Given the description of an element on the screen output the (x, y) to click on. 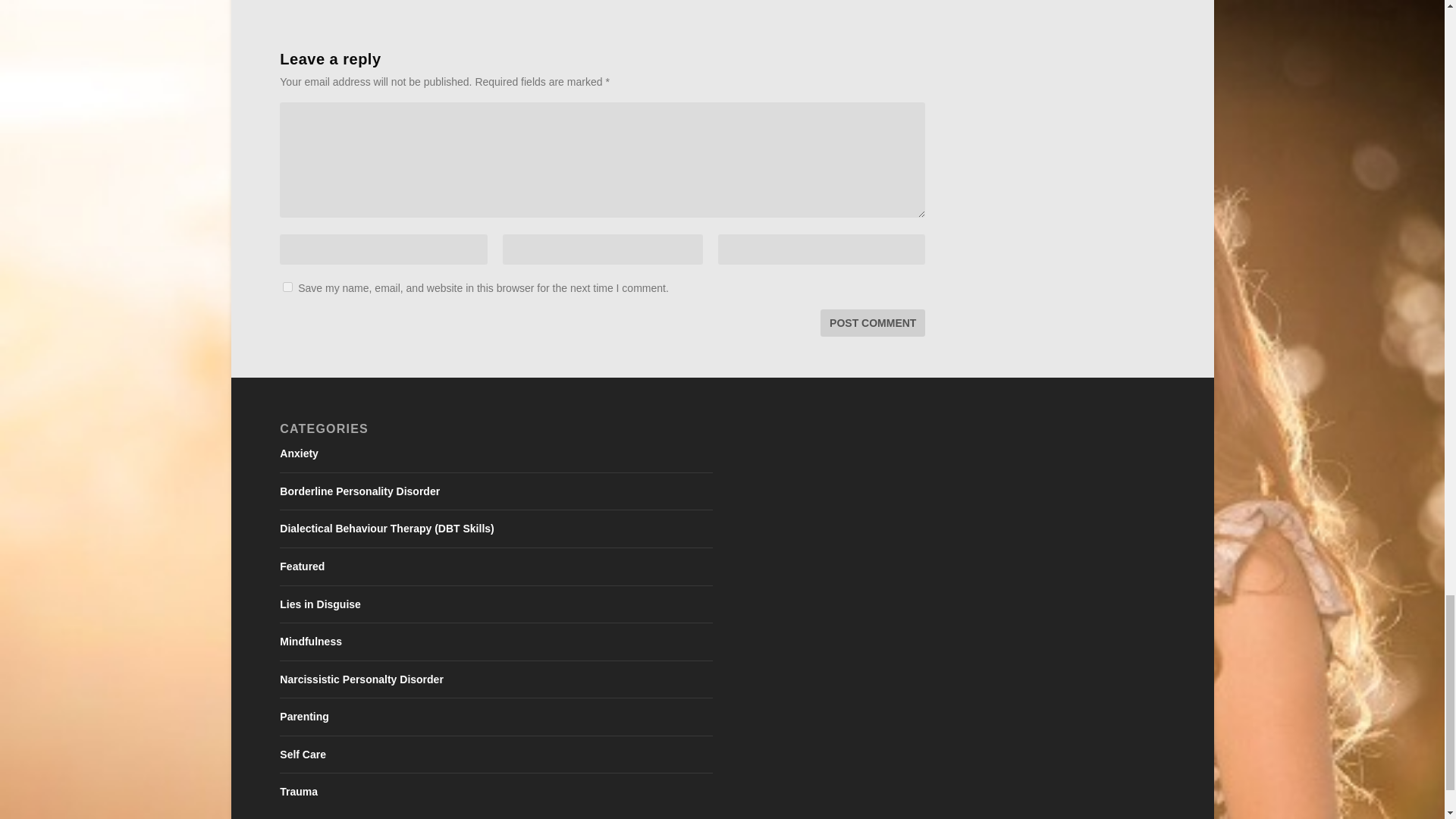
yes (287, 286)
Post Comment (872, 322)
Post Comment (872, 322)
